Given the description of an element on the screen output the (x, y) to click on. 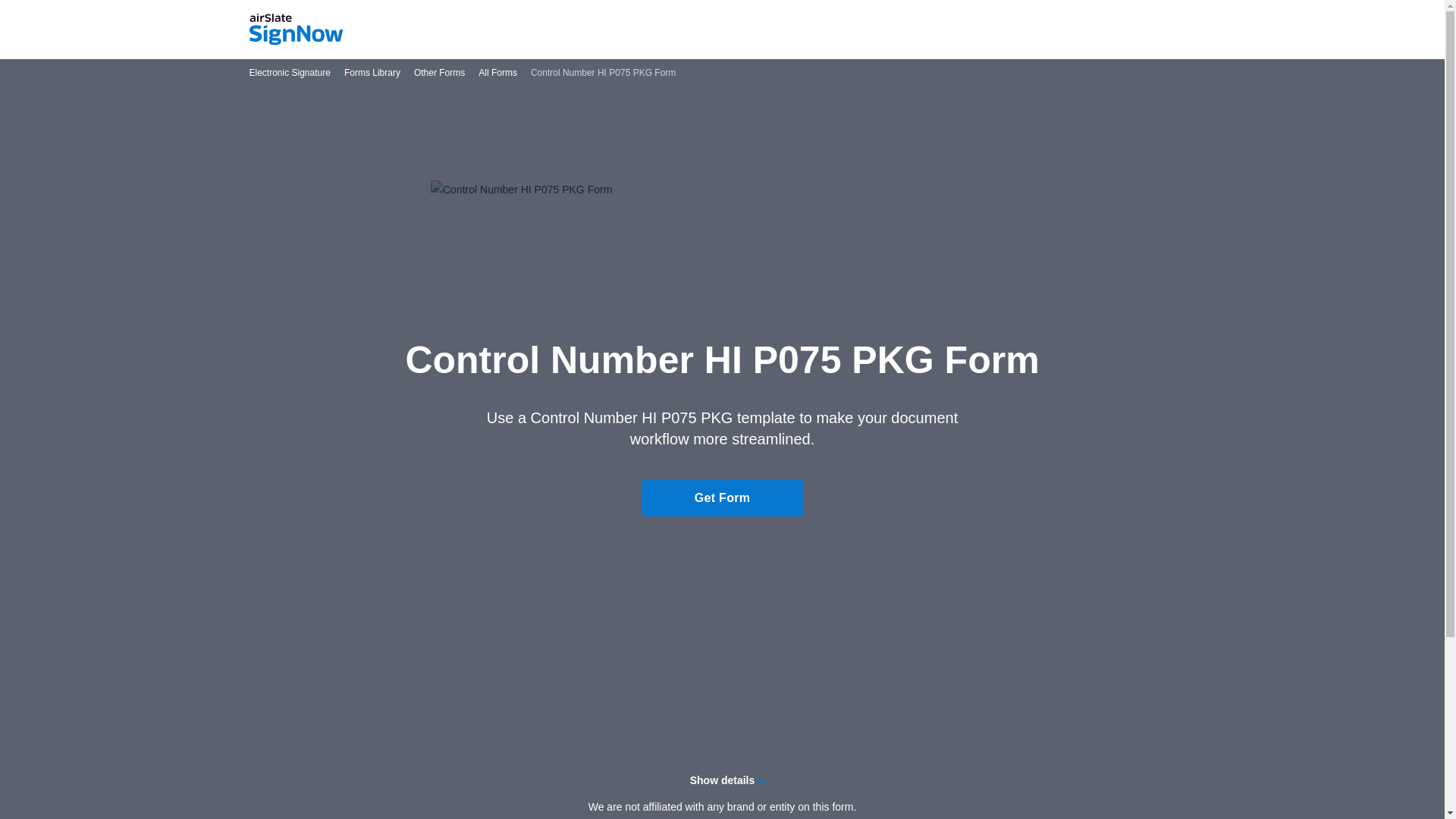
Show details (722, 780)
Other Forms (438, 73)
Electronic Signature (289, 73)
All Forms (497, 73)
signNow (295, 29)
Get Form (722, 497)
Forms Library (371, 73)
